Given the description of an element on the screen output the (x, y) to click on. 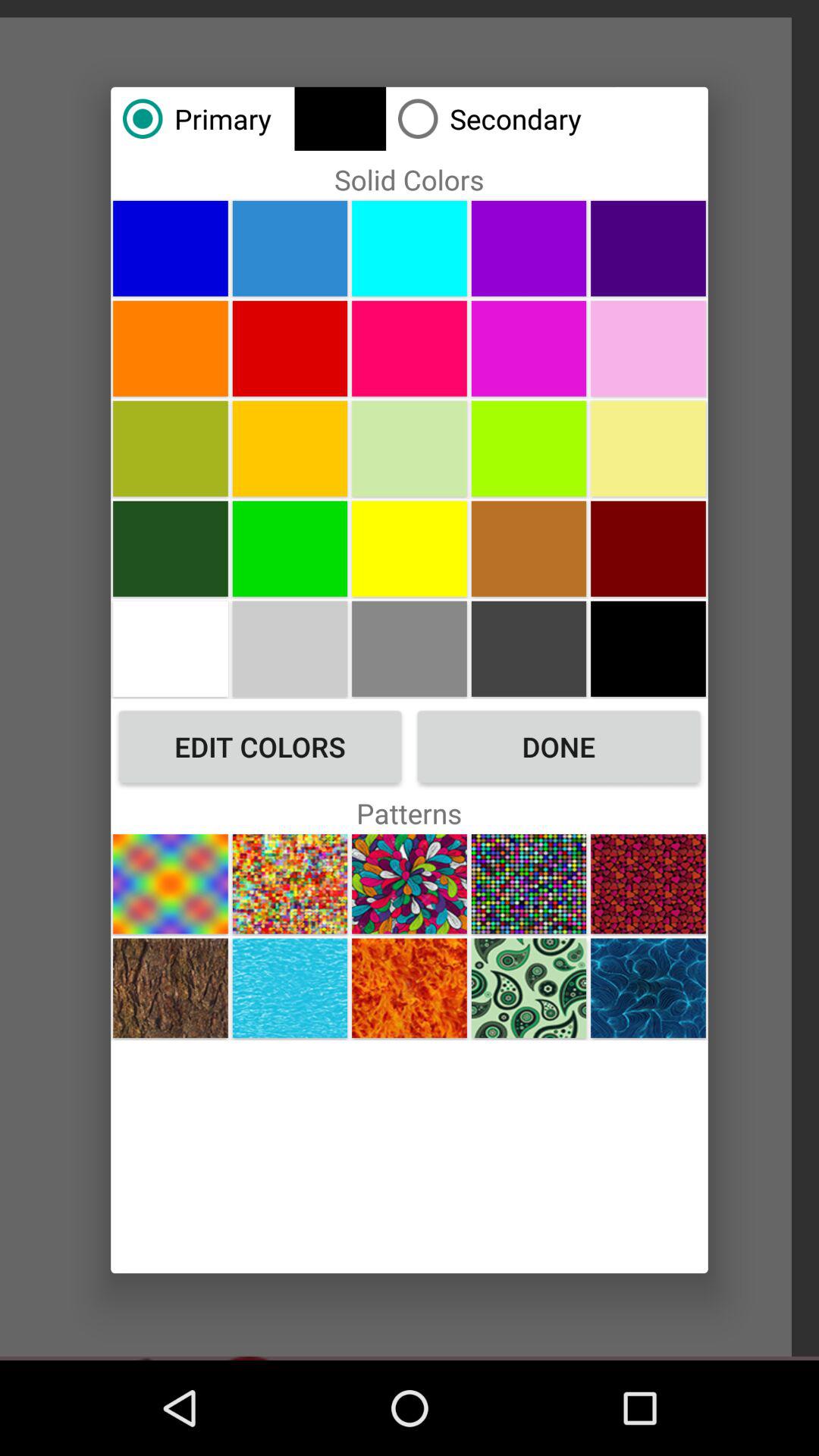
open icon below the done (528, 883)
